Given the description of an element on the screen output the (x, y) to click on. 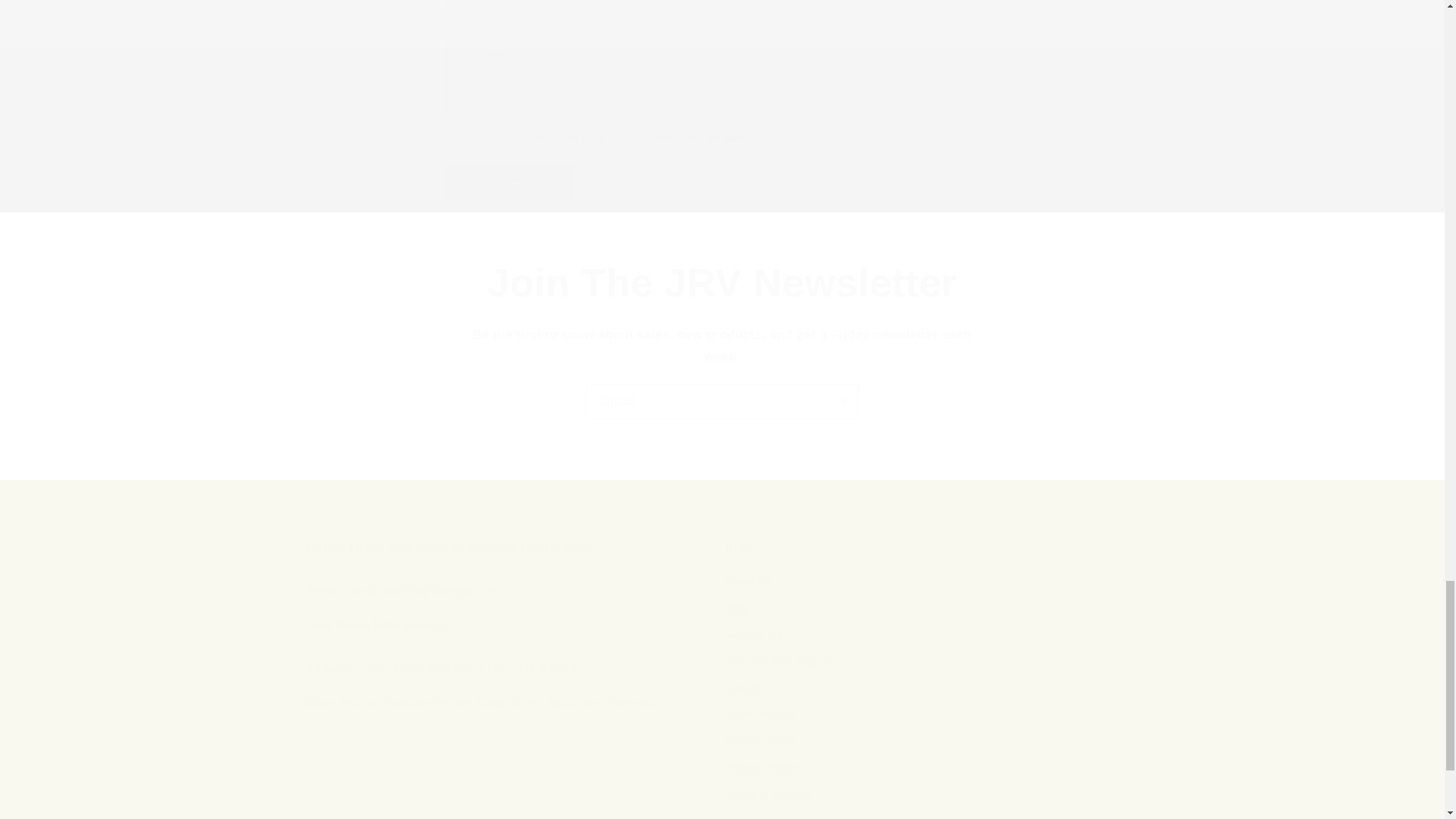
Join The JRV Newsletter (721, 283)
Email (722, 401)
Post comment (510, 181)
